Given the description of an element on the screen output the (x, y) to click on. 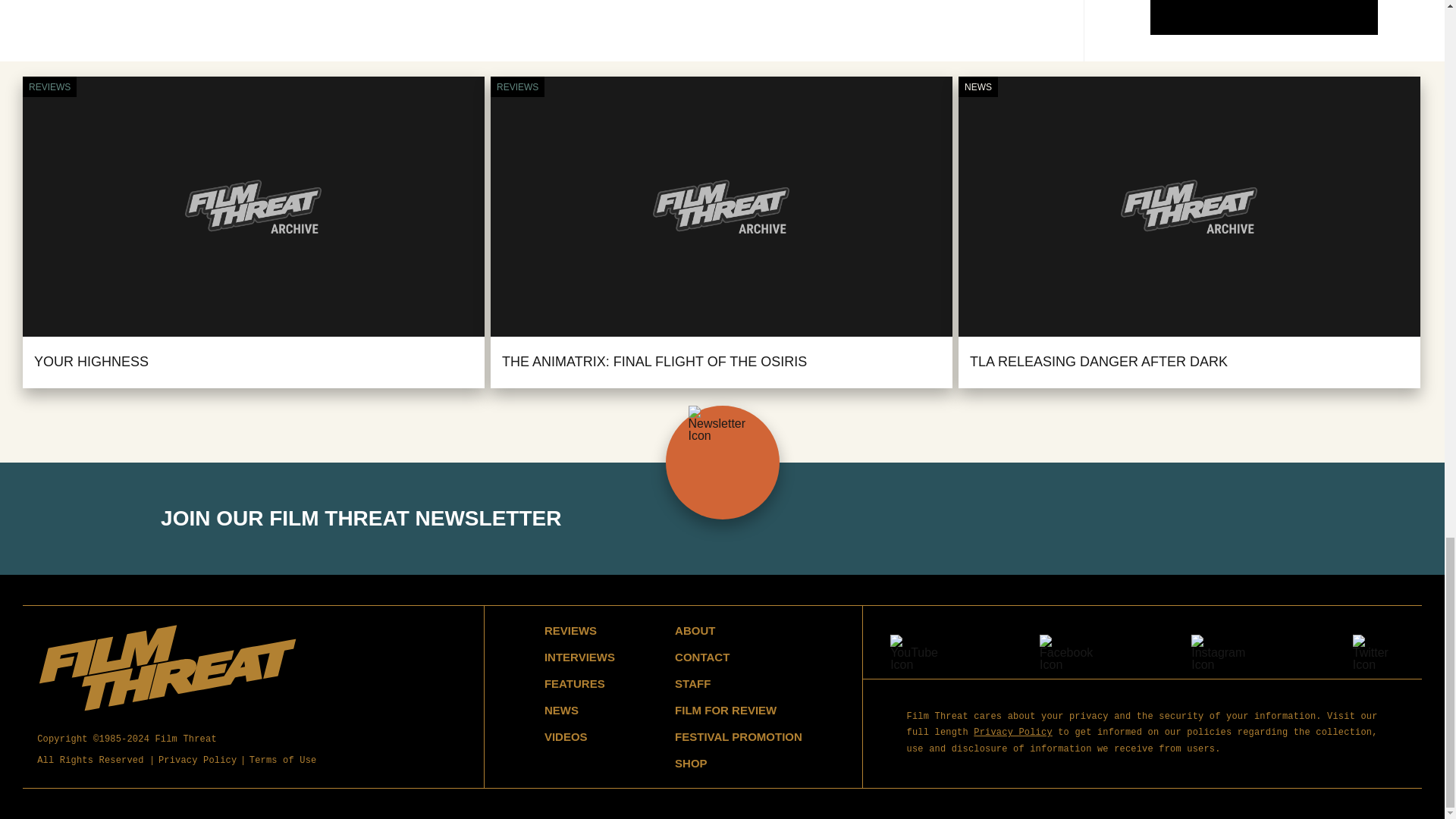
Reviews (49, 86)
YOUR HIGHNESS (90, 361)
TLA RELEASING DANGER AFTER DARK (1098, 361)
REVIEWS (49, 86)
Reviews (517, 86)
REVIEWS (517, 86)
THE ANIMATRIX: FINAL FLIGHT OF THE OSIRIS (654, 361)
NEWS (977, 86)
News (977, 86)
Privacy Policy (197, 760)
